Given the description of an element on the screen output the (x, y) to click on. 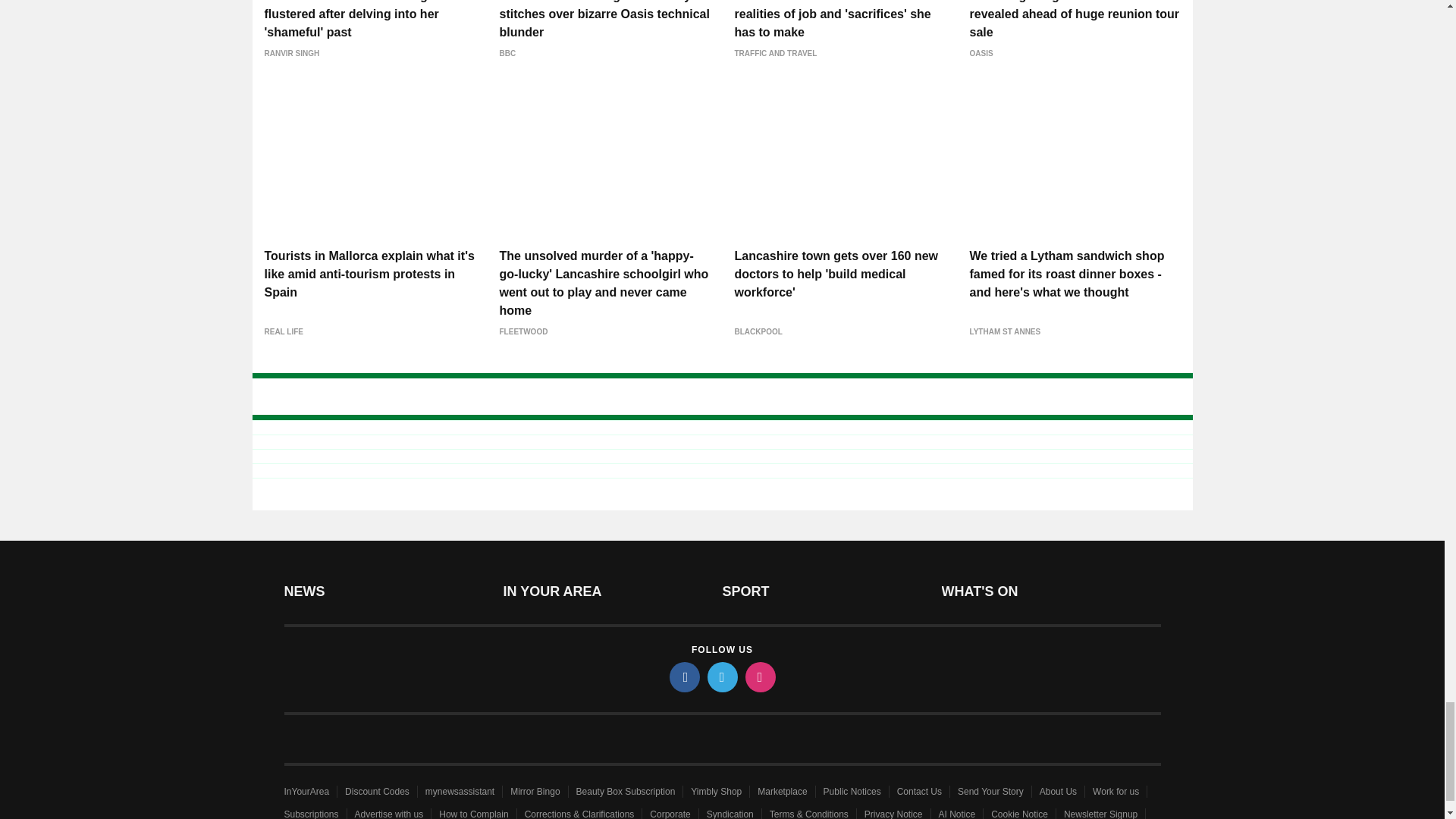
instagram (759, 676)
twitter (721, 676)
facebook (683, 676)
